Given the description of an element on the screen output the (x, y) to click on. 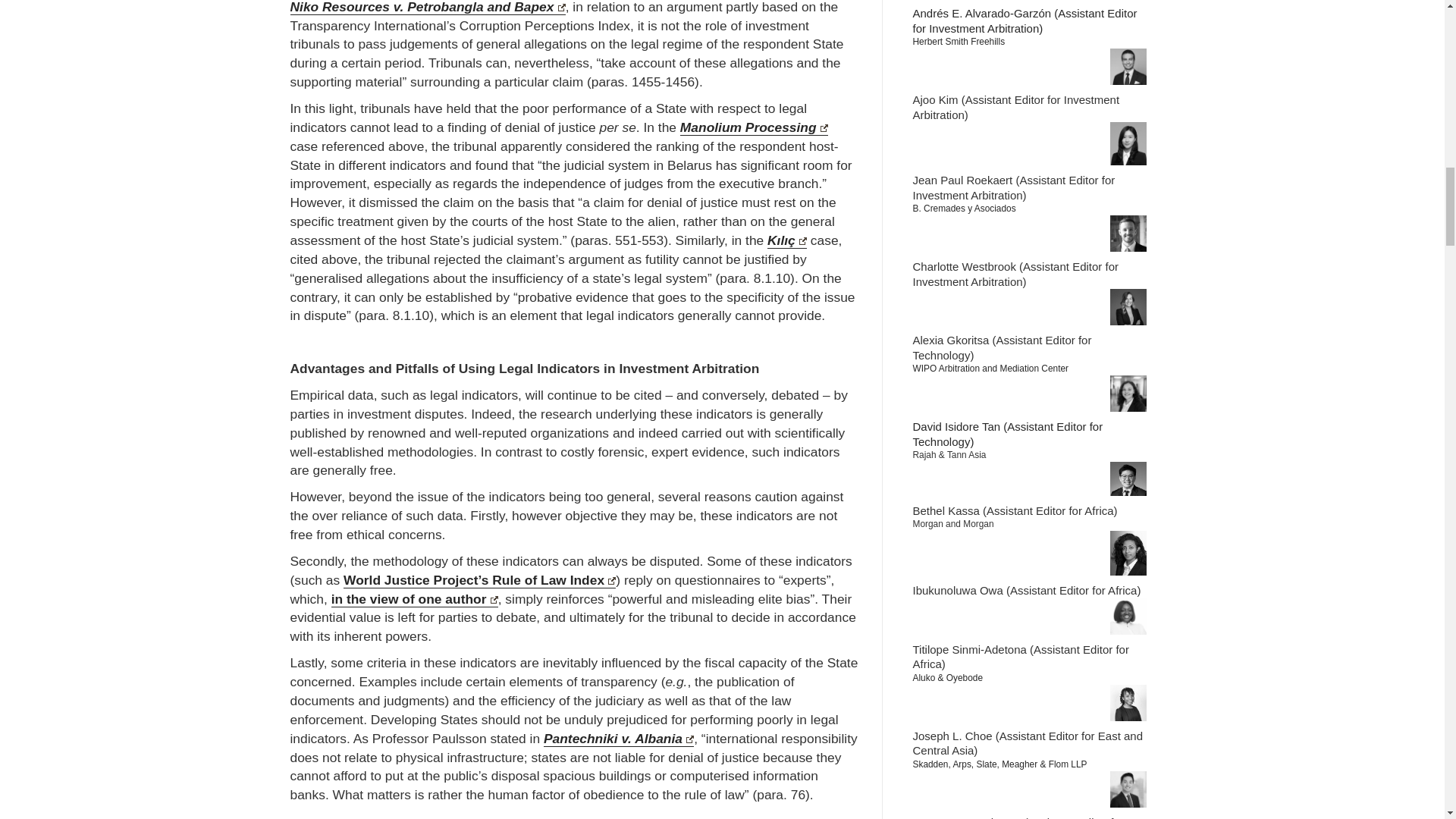
Niko Resources v. Petrobangla and Bapex (426, 7)
